Given the description of an element on the screen output the (x, y) to click on. 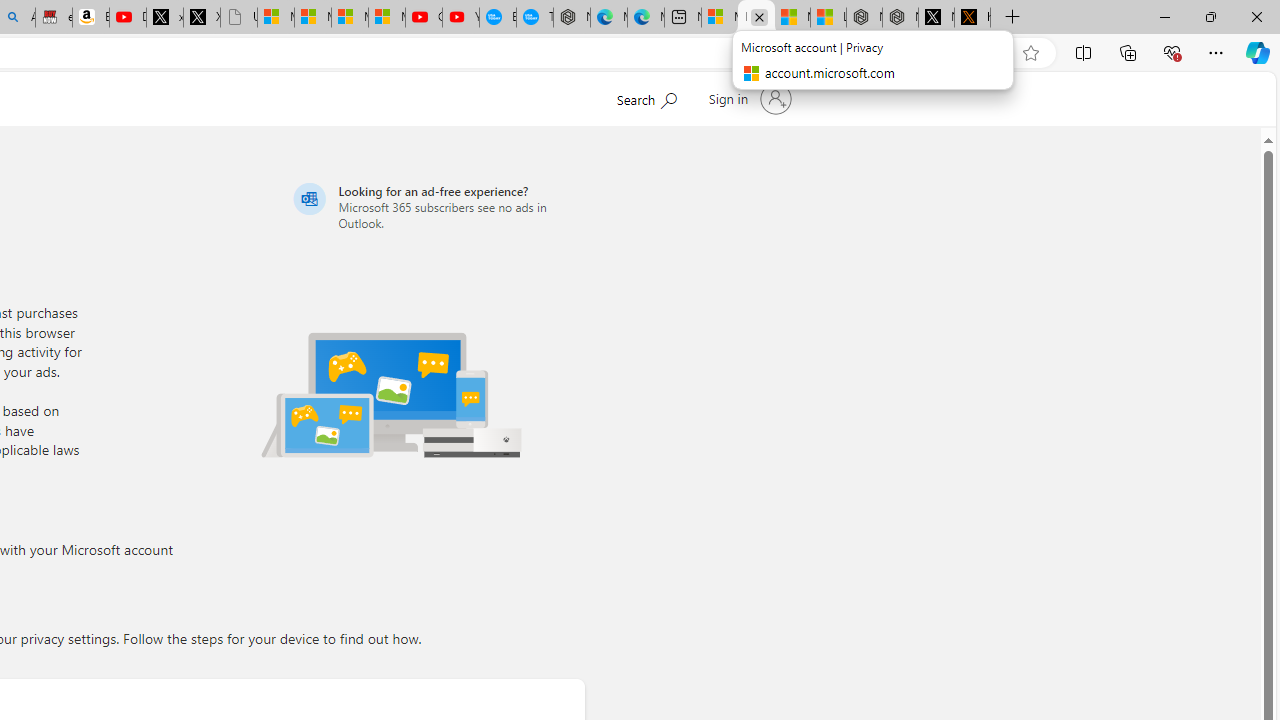
Microsoft account | Microsoft Account Privacy Settings (719, 17)
YouTube Kids - An App Created for Kids to Explore Content (460, 17)
Untitled (239, 17)
help.x.com | 524: A timeout occurred (971, 17)
